Given the description of an element on the screen output the (x, y) to click on. 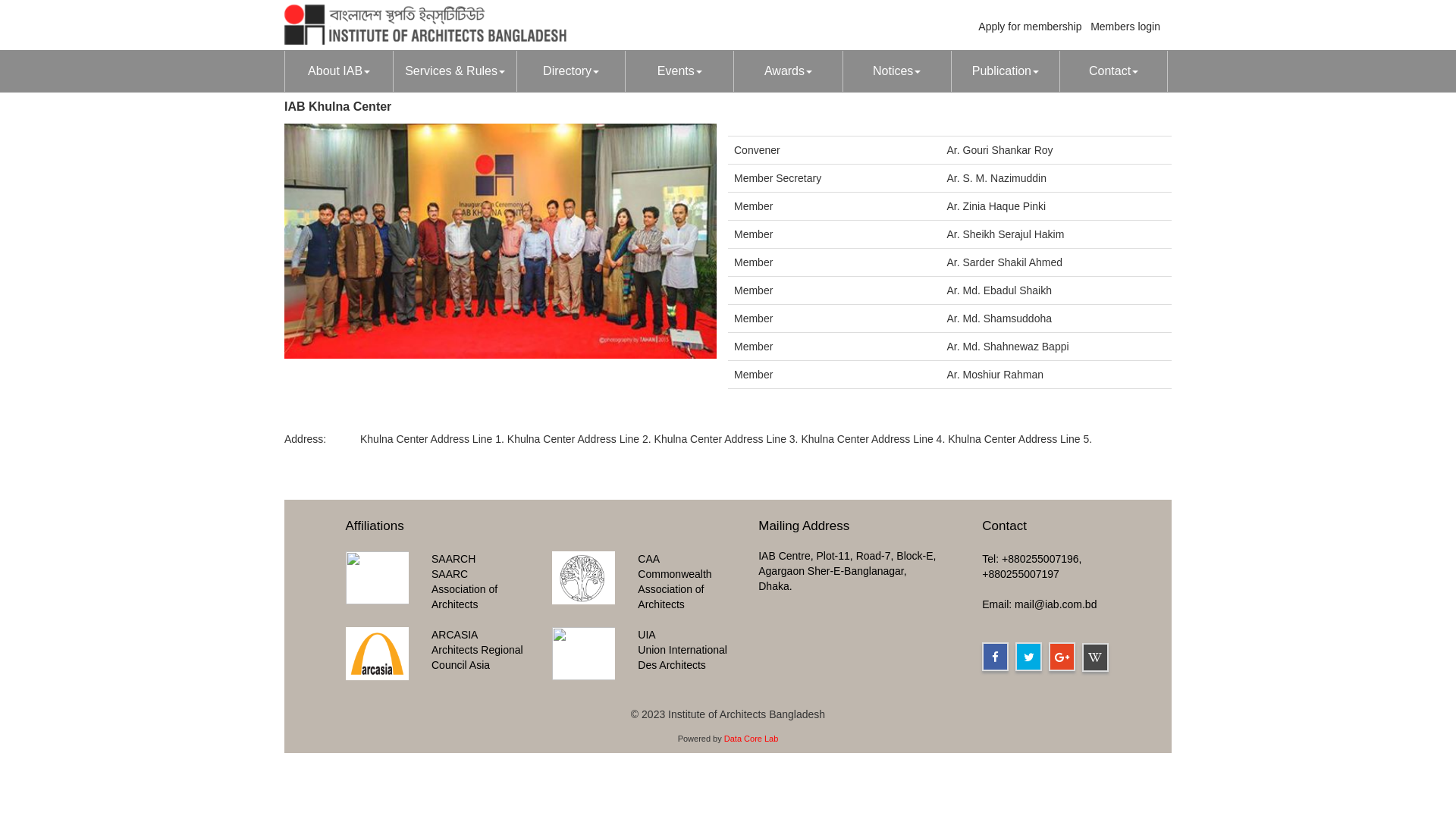
Google Plus Element type: hover (1061, 656)
Services & Rules Element type: text (454, 70)
About IAB Element type: text (338, 70)
Apply for membership Element type: text (1029, 26)
Directory Element type: text (570, 70)
Contact Element type: text (1113, 70)
Awards Element type: text (787, 70)
Wikipedia Element type: hover (1095, 657)
Members login Element type: text (1125, 26)
Notices Element type: text (896, 70)
Facebook Element type: hover (995, 656)
Events Element type: text (678, 70)
Twitter Element type: hover (1028, 656)
Publication Element type: text (1004, 70)
Data Core Lab Element type: text (751, 738)
